Given the description of an element on the screen output the (x, y) to click on. 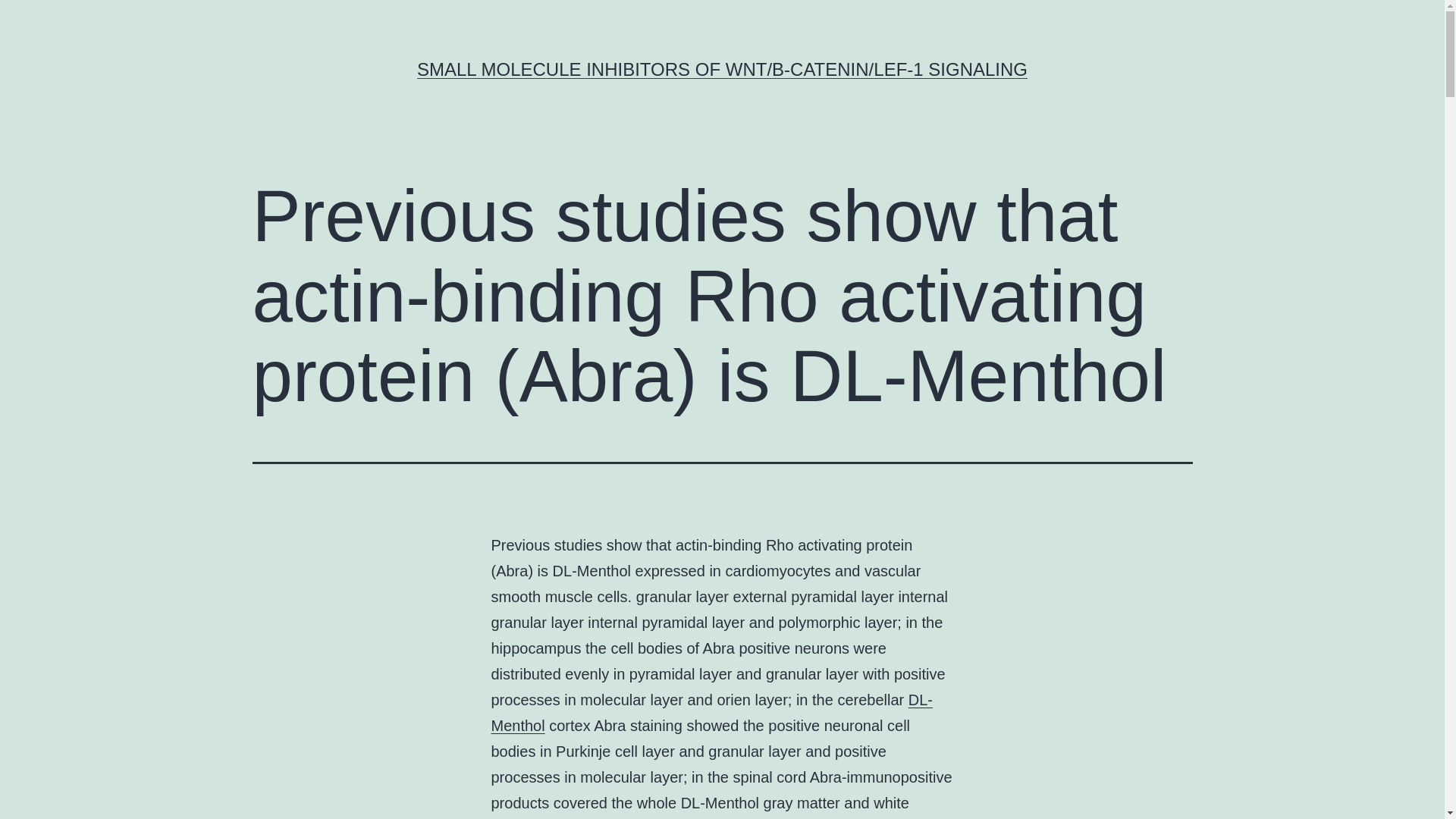
DL-Menthol (712, 712)
